Given the description of an element on the screen output the (x, y) to click on. 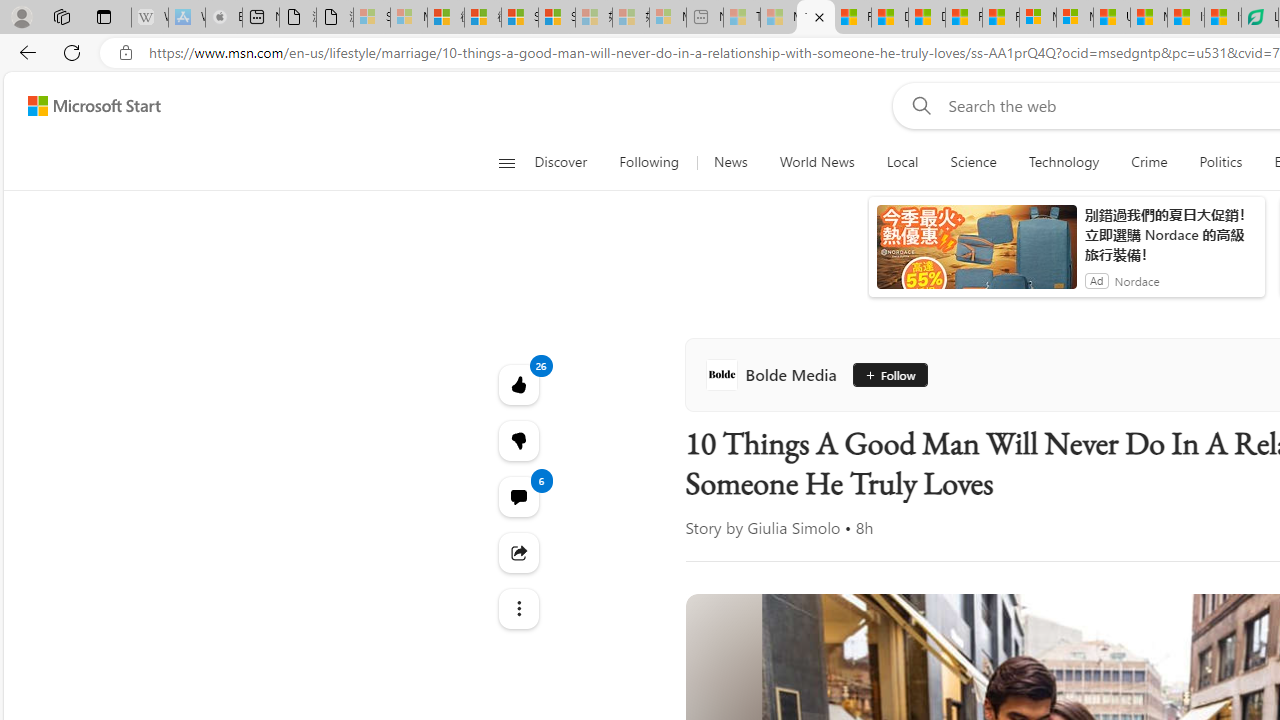
See more (517, 608)
Science (973, 162)
World News (817, 162)
Sign in to your Microsoft account - Sleeping (372, 17)
Skip to content (86, 105)
